Given the description of an element on the screen output the (x, y) to click on. 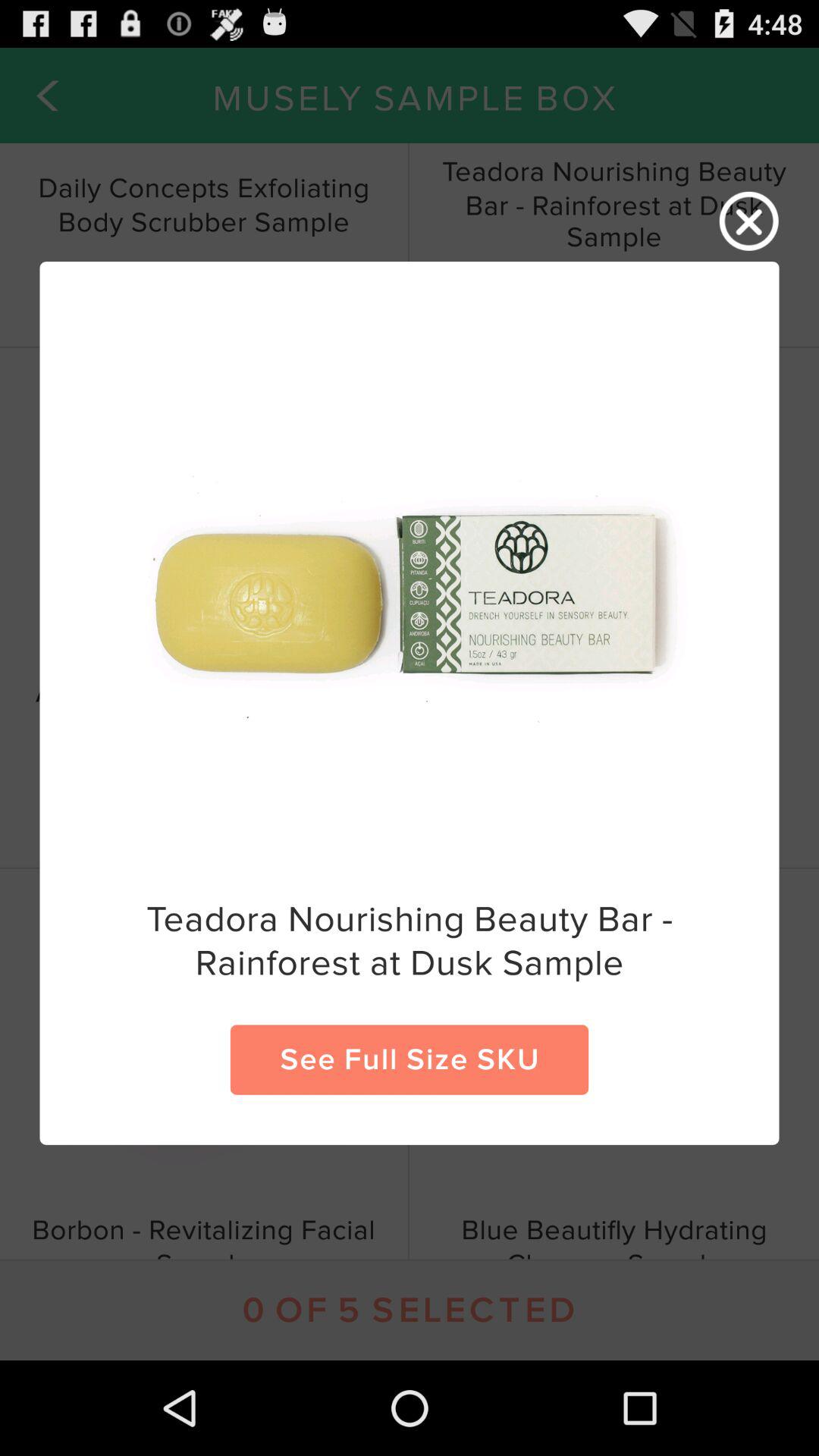
tap the item above teadora nourishing beauty icon (749, 221)
